Given the description of an element on the screen output the (x, y) to click on. 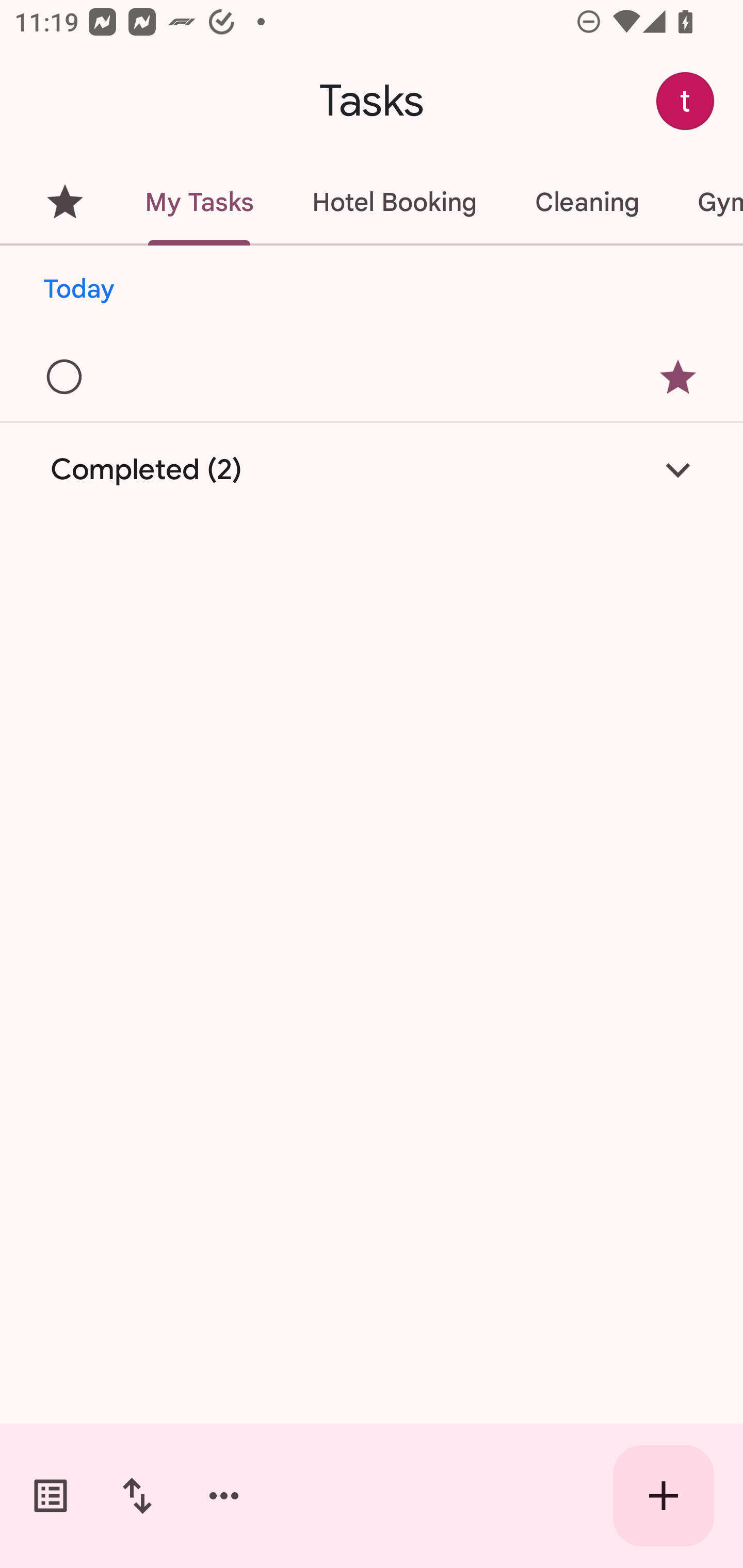
Starred (64, 202)
Hotel Booking (394, 202)
Cleaning (586, 202)
Remove star (677, 376)
Mark as complete (64, 377)
Completed (2) (371, 470)
Switch task lists (50, 1495)
Create new task (663, 1495)
Change sort order (136, 1495)
More options (223, 1495)
